Given the description of an element on the screen output the (x, y) to click on. 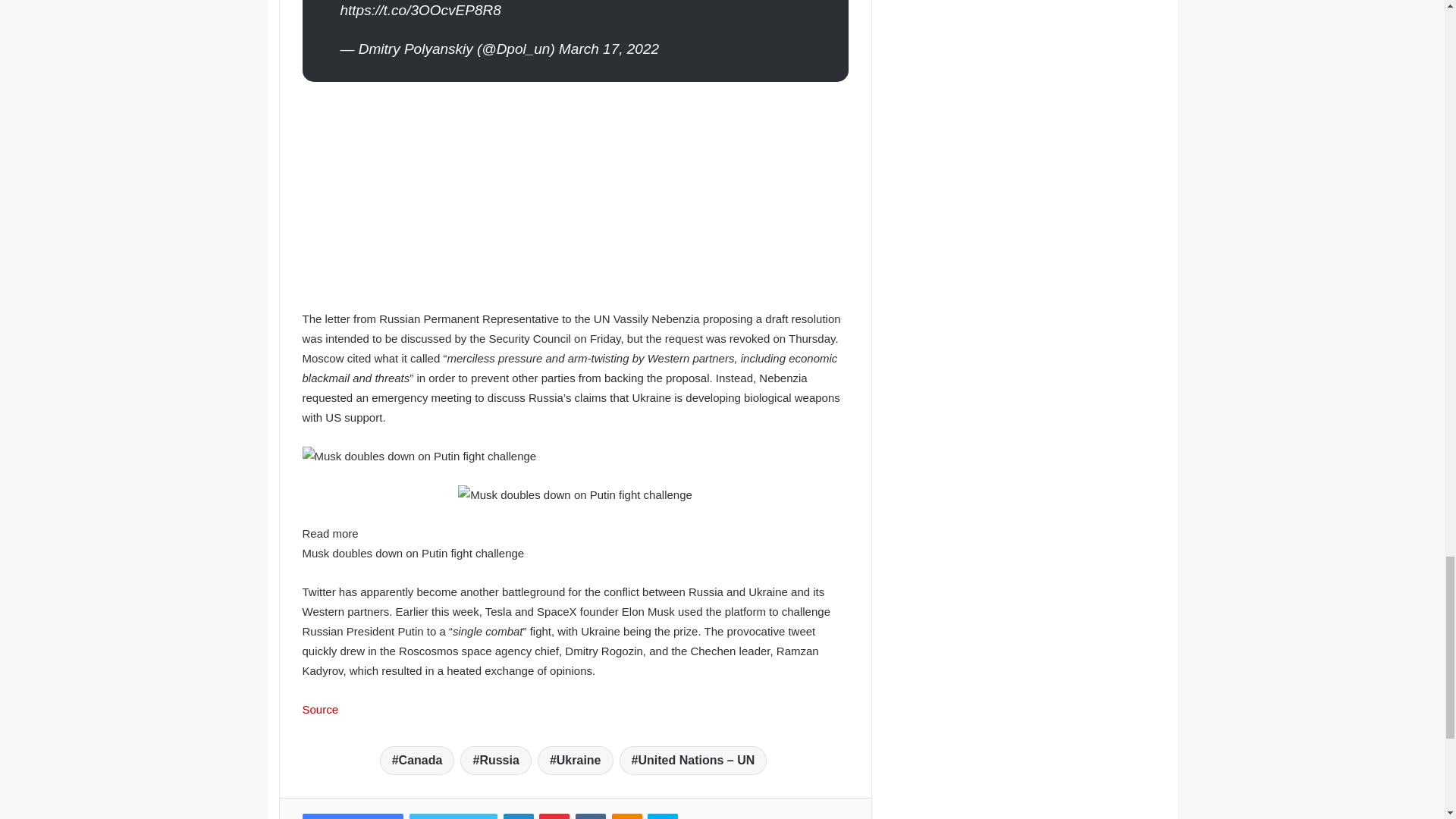
Skype (662, 816)
VKontakte (590, 816)
Canada (417, 760)
Twitter (453, 816)
LinkedIn (518, 816)
Facebook (352, 816)
Ukraine (574, 760)
Source (319, 708)
Odnoklassniki (626, 816)
Advertisement (574, 203)
